Given the description of an element on the screen output the (x, y) to click on. 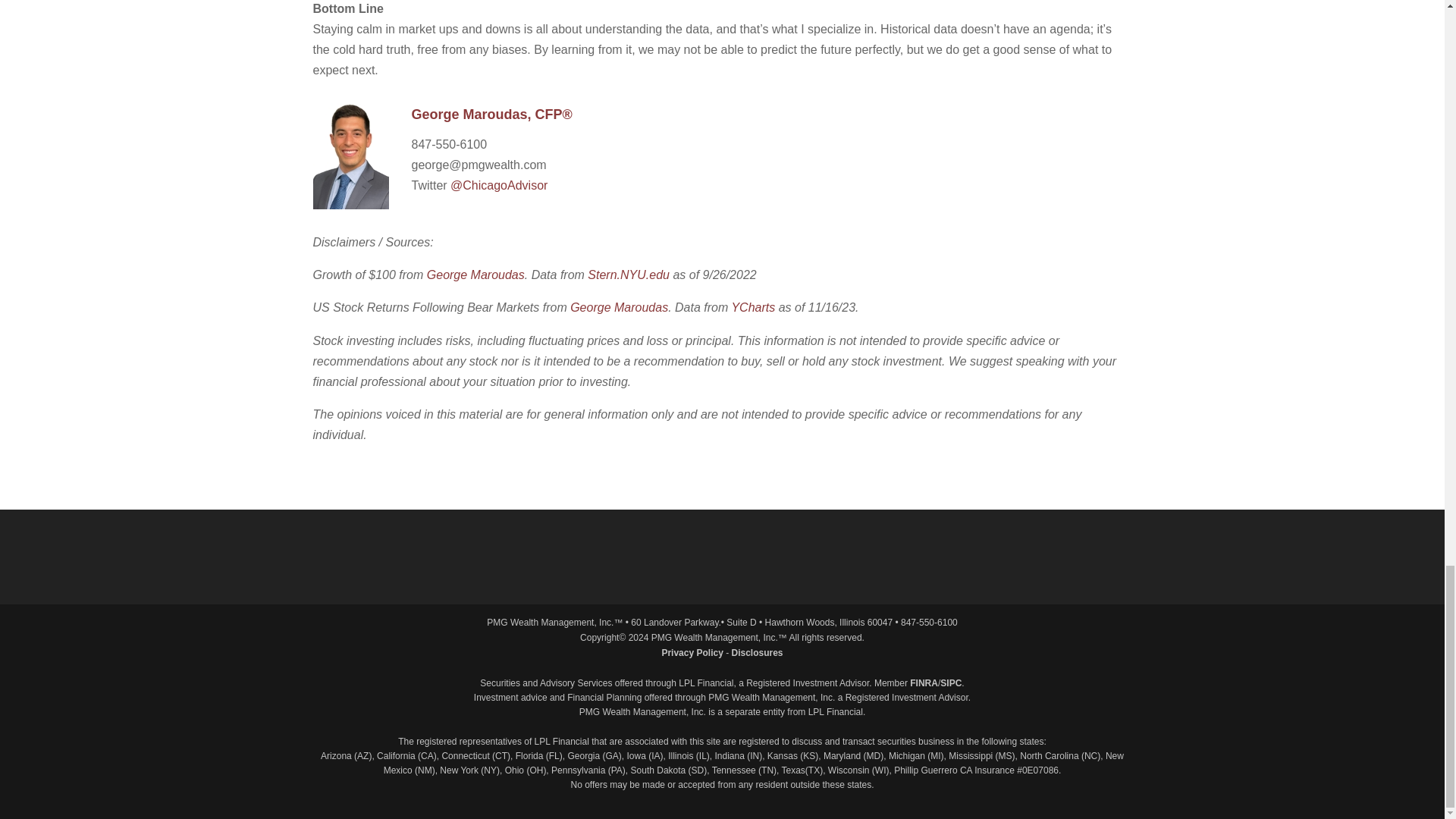
YCharts (752, 307)
FINRA (923, 683)
Stern.NYU.edu (628, 274)
SIPC (950, 683)
George Maroudas (475, 274)
Privacy Policy (691, 652)
George Maroudas (619, 307)
Disclosures (756, 652)
